Given the description of an element on the screen output the (x, y) to click on. 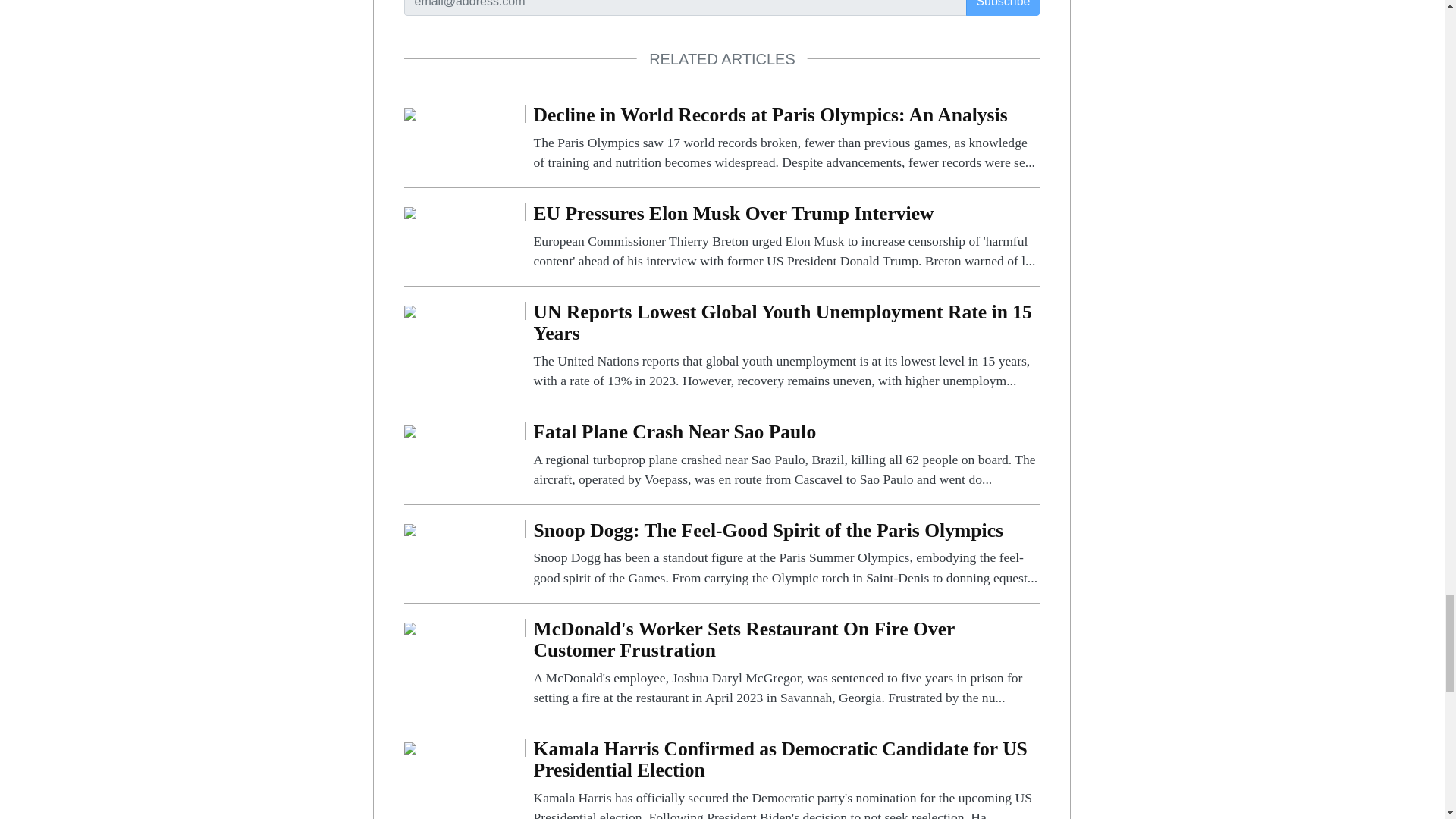
UN Reports Lowest Global Youth Unemployment Rate in 15 Years (785, 346)
Fatal Plane Crash Near Sao Paulo (785, 454)
Fatal Plane Crash Near Sao Paulo (410, 430)
EU Pressures Elon Musk Over Trump Interview (410, 211)
UN Reports Lowest Global Youth Unemployment Rate in 15 Years (410, 309)
Decline in World Records at Paris Olympics: An Analysis (785, 137)
